Given the description of an element on the screen output the (x, y) to click on. 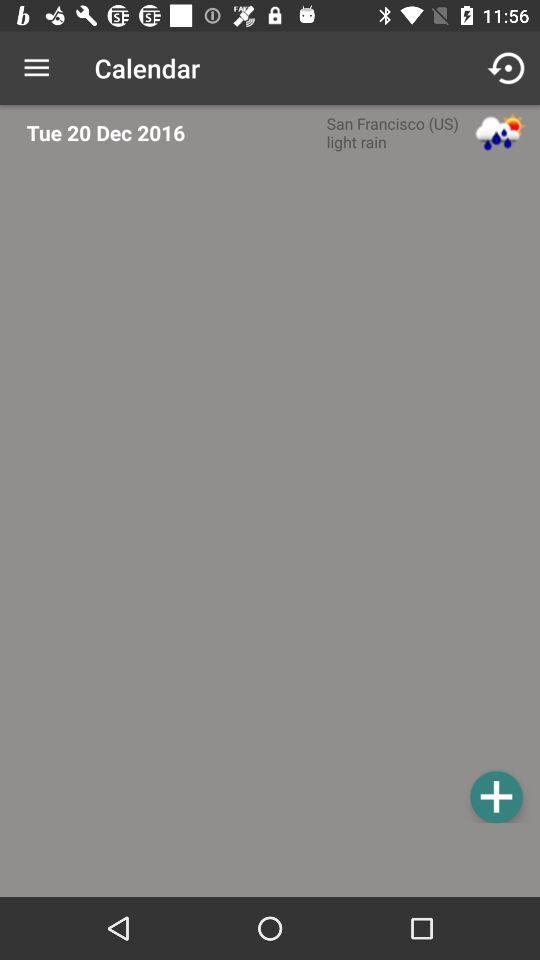
zoom in (496, 796)
